Given the description of an element on the screen output the (x, y) to click on. 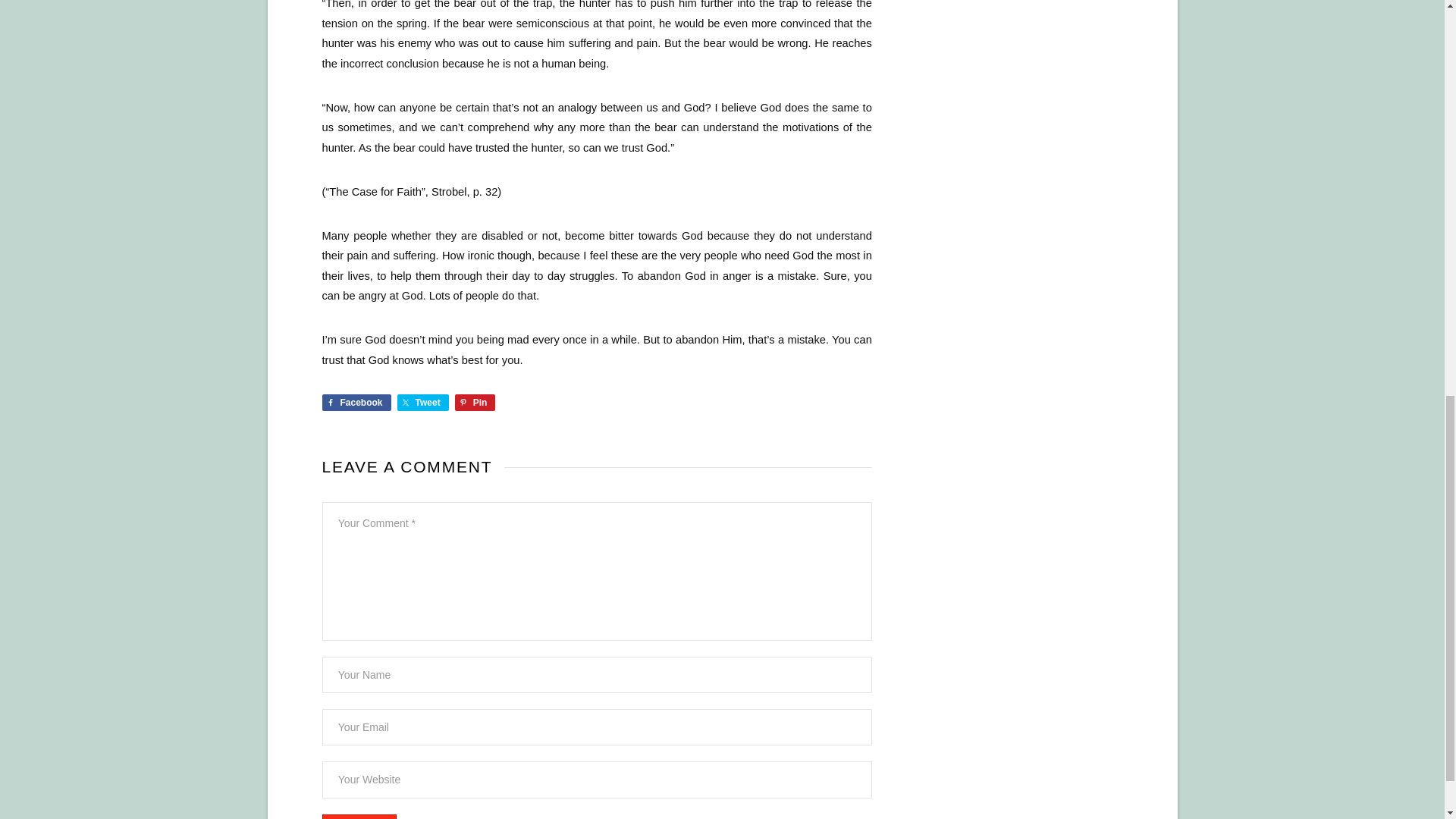
Share on Facebook (355, 402)
Share on Twitter (422, 402)
Submit (358, 816)
Share on Pinterest (475, 402)
